Given the description of an element on the screen output the (x, y) to click on. 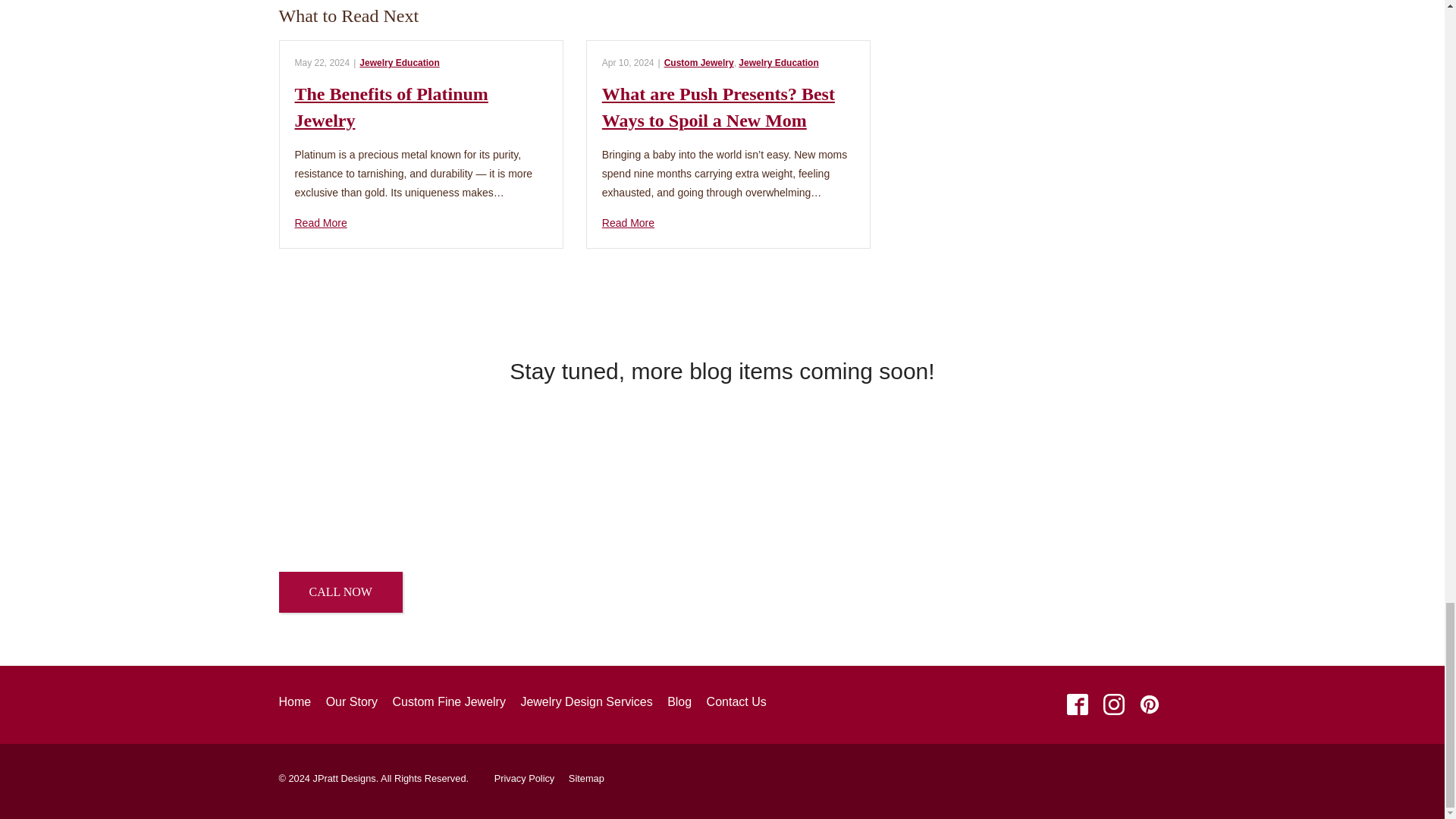
instagram (1113, 704)
What are Push Presents? Best Ways to Spoil a New Mom (728, 222)
The Benefits of Platinum Jewelry (420, 222)
pinterest (1149, 704)
facebook (1077, 704)
